Given the description of an element on the screen output the (x, y) to click on. 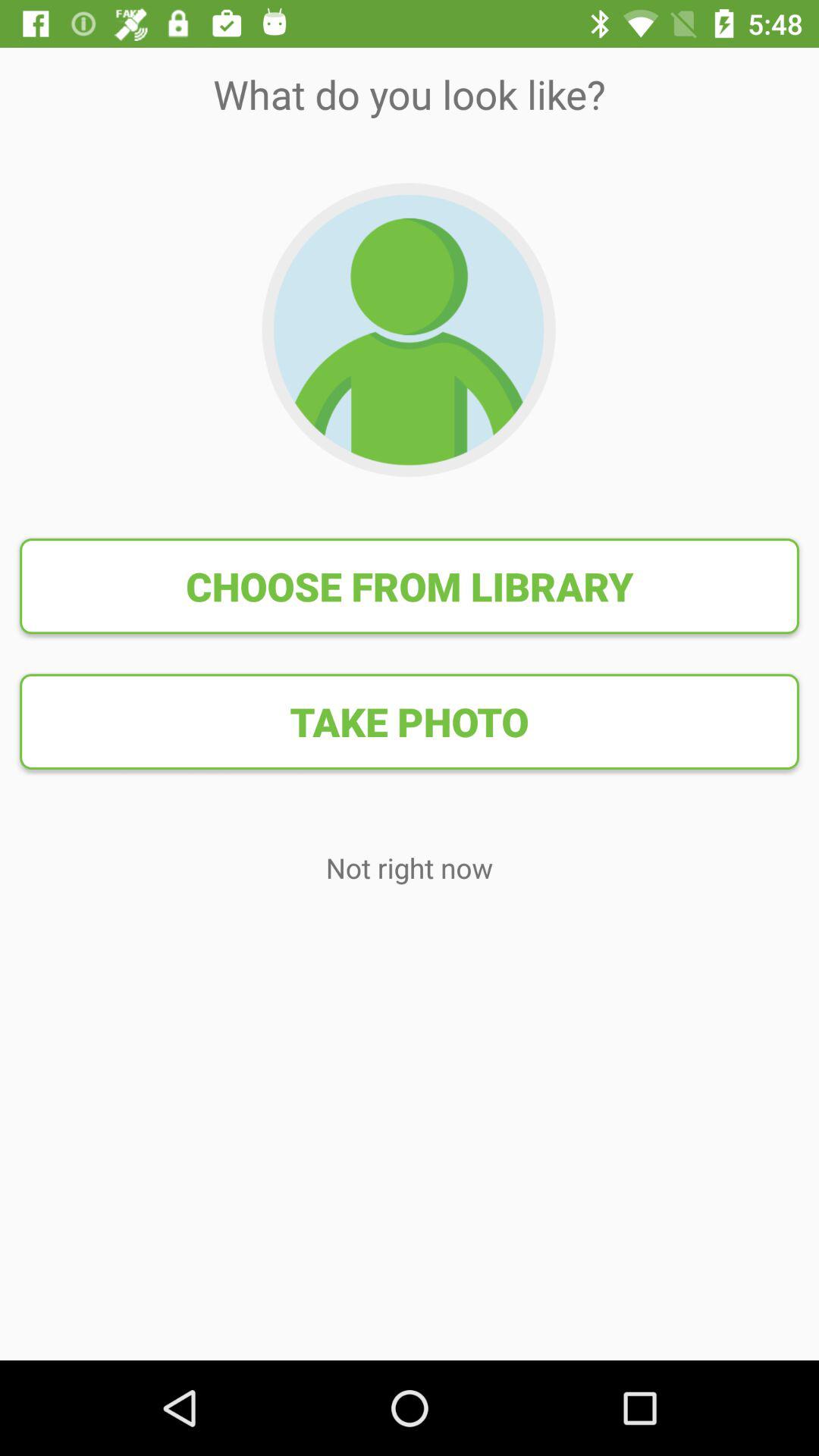
tap the take photo (409, 721)
